Given the description of an element on the screen output the (x, y) to click on. 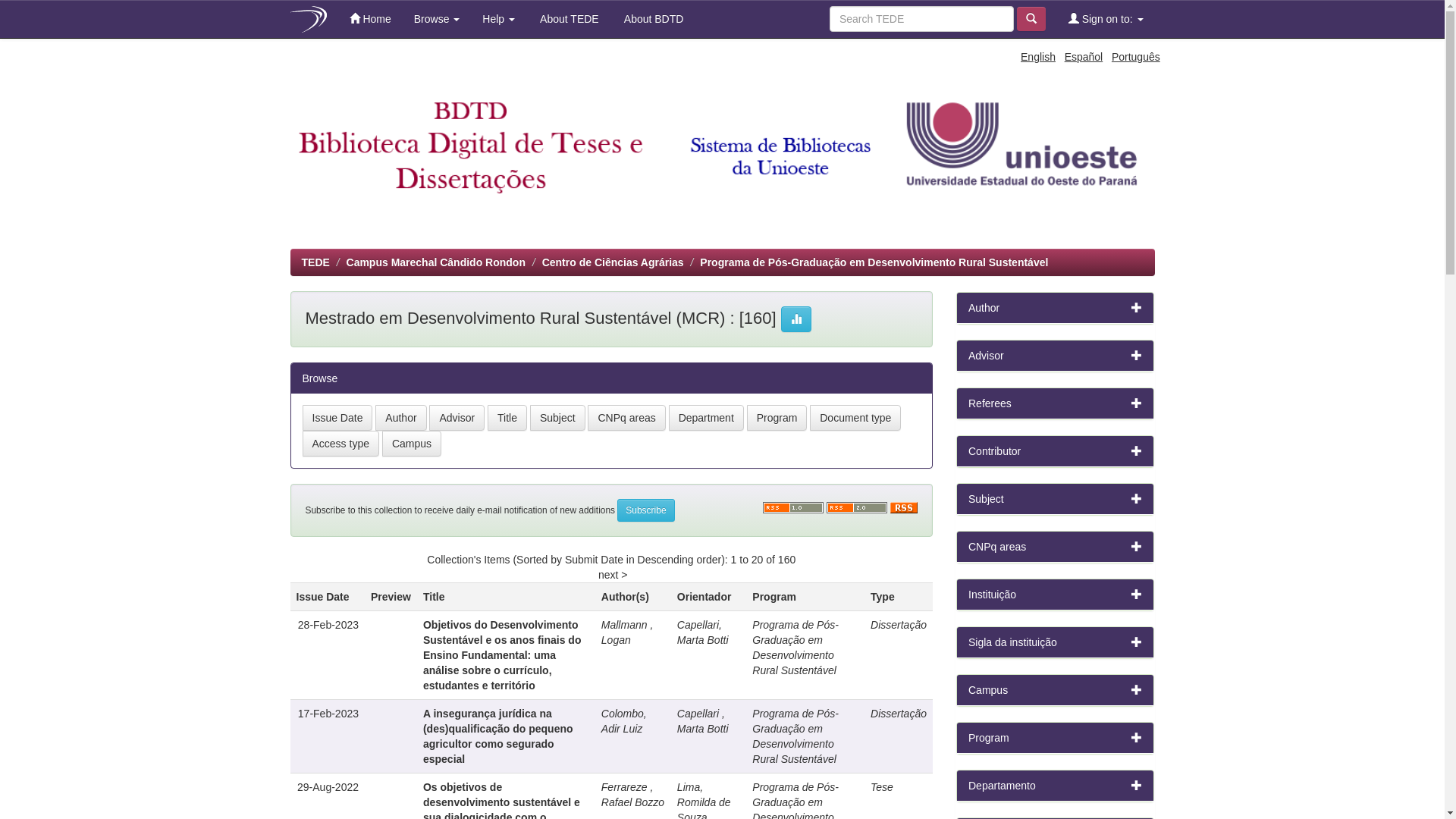
Author Element type: text (400, 417)
Capellari, Marta Botti Element type: text (702, 632)
Colombo, Adir Luiz Element type: text (623, 720)
Mallmann , Logan Element type: text (626, 632)
TEDE Element type: text (315, 262)
Access type Element type: text (339, 443)
Subscribe Element type: text (645, 509)
Subject Element type: text (557, 417)
Help Element type: text (498, 18)
Title Element type: text (507, 417)
next > Element type: text (612, 574)
Document type Element type: text (854, 417)
Program Element type: text (776, 417)
Capellari , Marta Botti Element type: text (702, 720)
CNPq areas Element type: text (626, 417)
Sign on to: Element type: text (1105, 18)
Issue Date Element type: text (336, 417)
Advisor Element type: text (456, 417)
Ferrareze , Rafael Bozzo Element type: text (632, 794)
Home Element type: text (370, 18)
Tese Element type: text (881, 787)
English Element type: text (1037, 56)
Browse Element type: text (436, 18)
Department Element type: text (705, 417)
About TEDE Element type: text (568, 18)
Campus Element type: text (411, 443)
About BDTD Element type: text (652, 18)
